Given the description of an element on the screen output the (x, y) to click on. 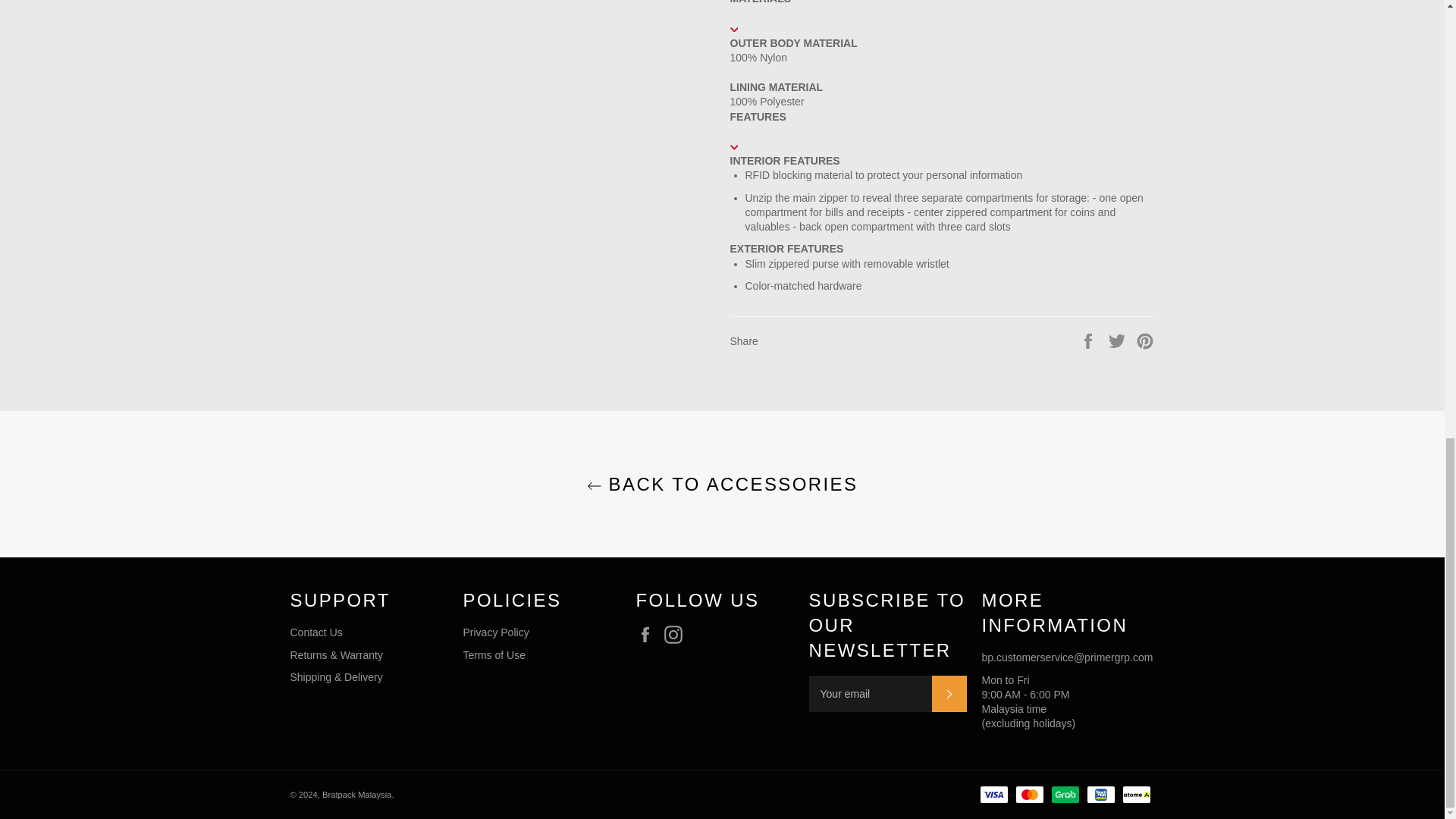
Pin on Pinterest (1144, 340)
Tweet on Twitter (1118, 340)
Bratpack Malaysia on Facebook (647, 634)
Share on Facebook (1089, 340)
Bratpack Malaysia on Instagram (676, 634)
